Given the description of an element on the screen output the (x, y) to click on. 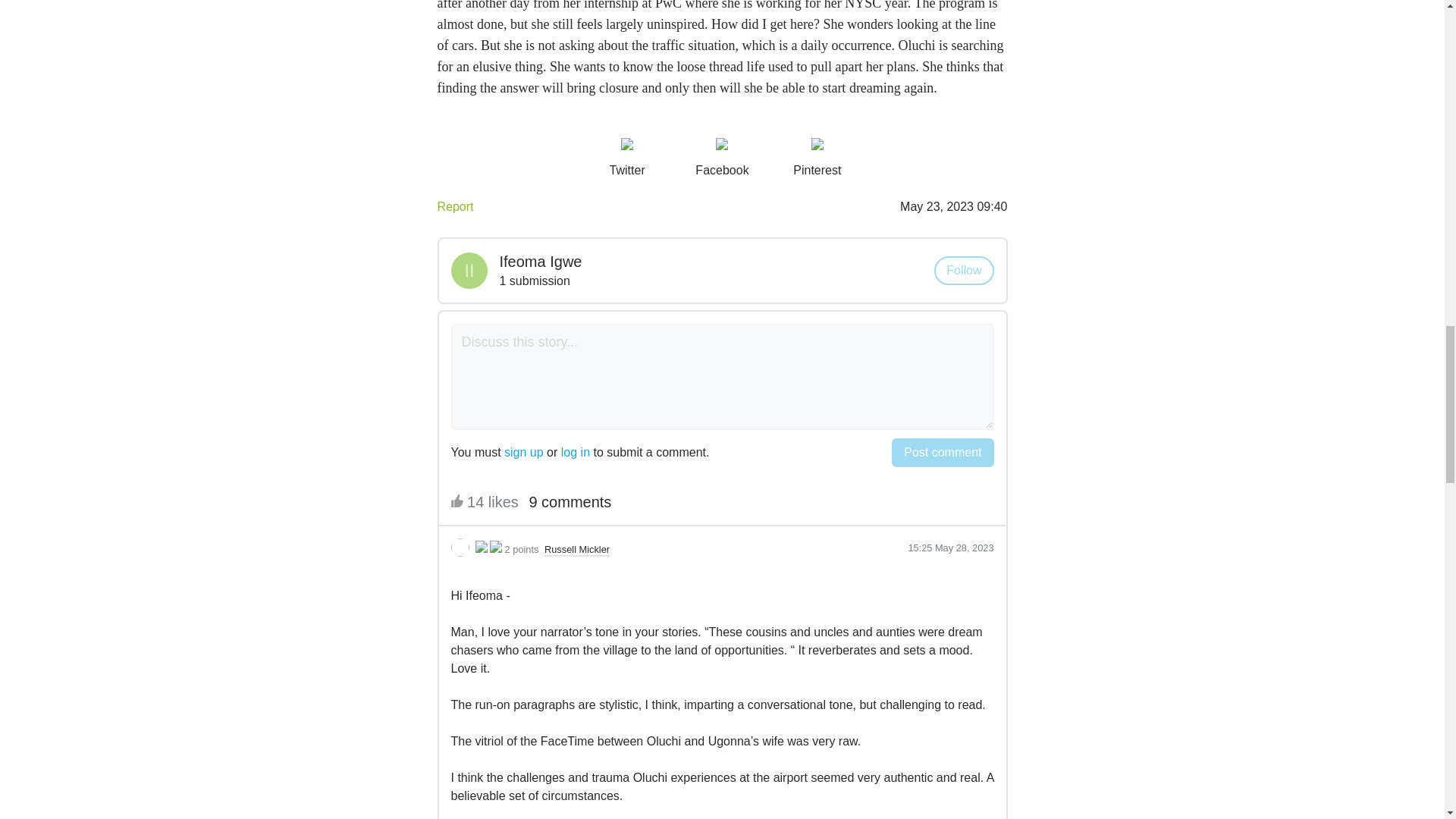
Post comment (941, 452)
